Given the description of an element on the screen output the (x, y) to click on. 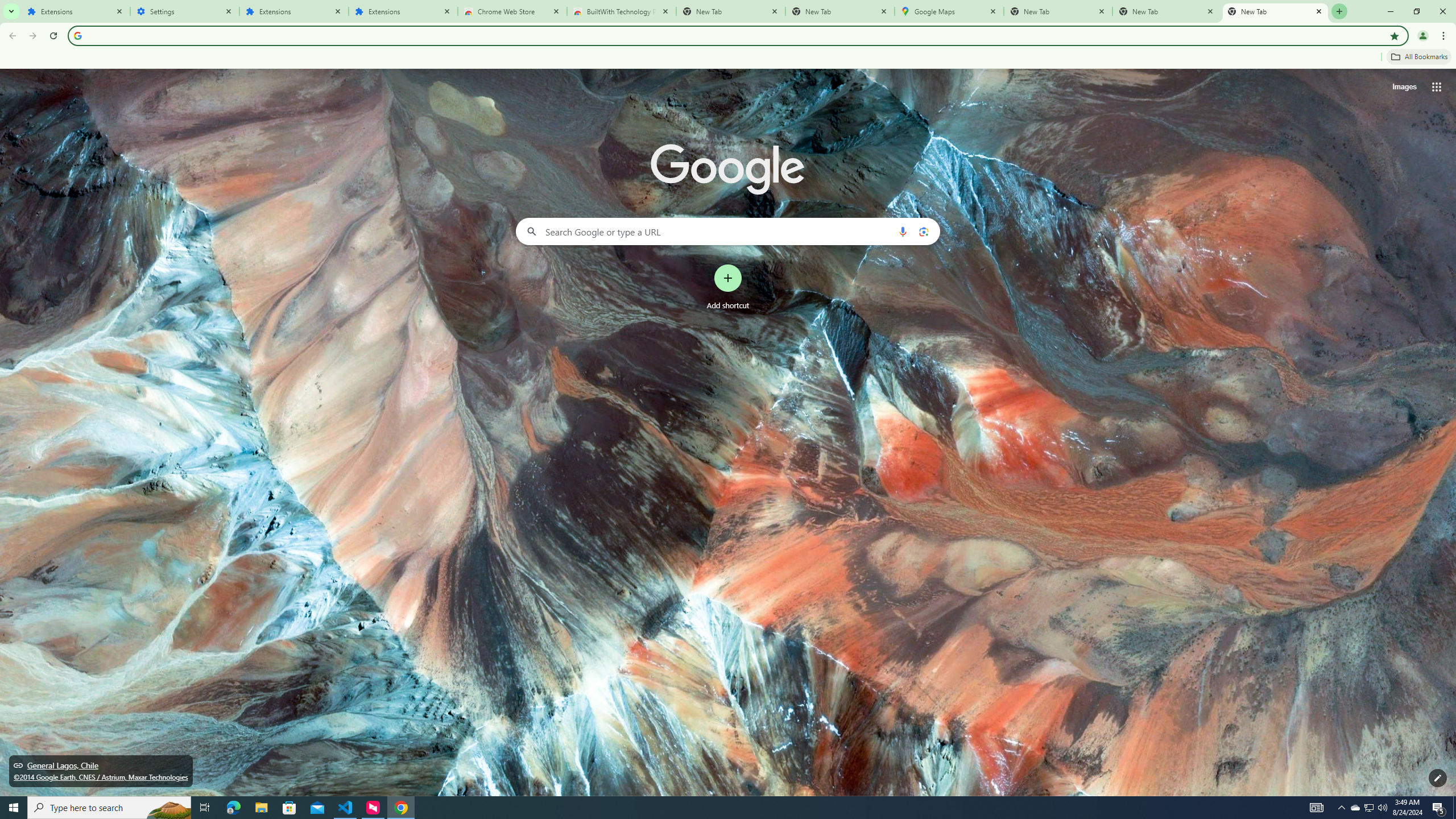
Extensions (403, 11)
Chrome Web Store (512, 11)
Extensions (293, 11)
Customize this page (1437, 778)
Search by image (922, 230)
All Bookmarks (1418, 56)
